Given the description of an element on the screen output the (x, y) to click on. 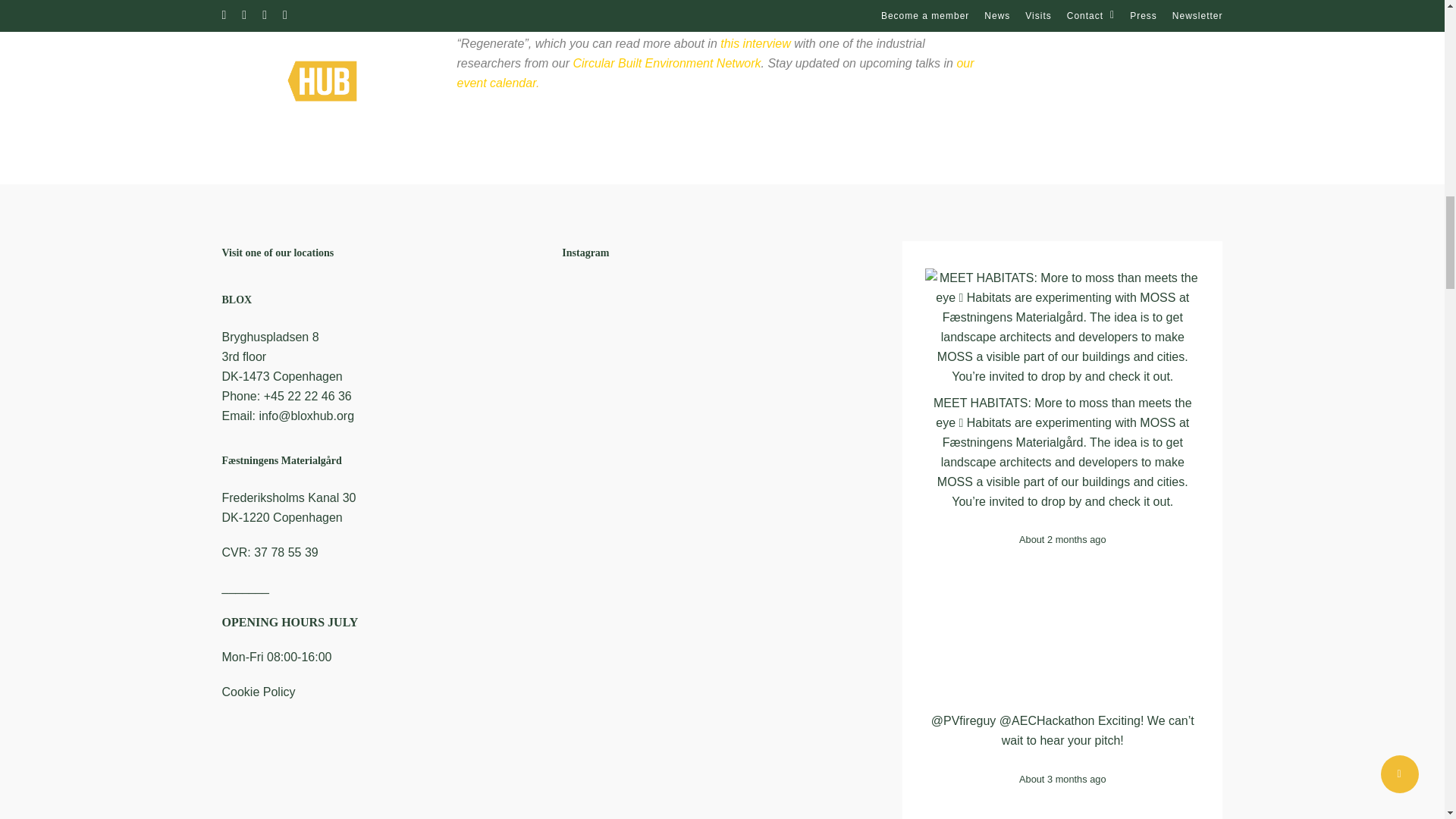
AEC Hackathon (1046, 720)
